Given the description of an element on the screen output the (x, y) to click on. 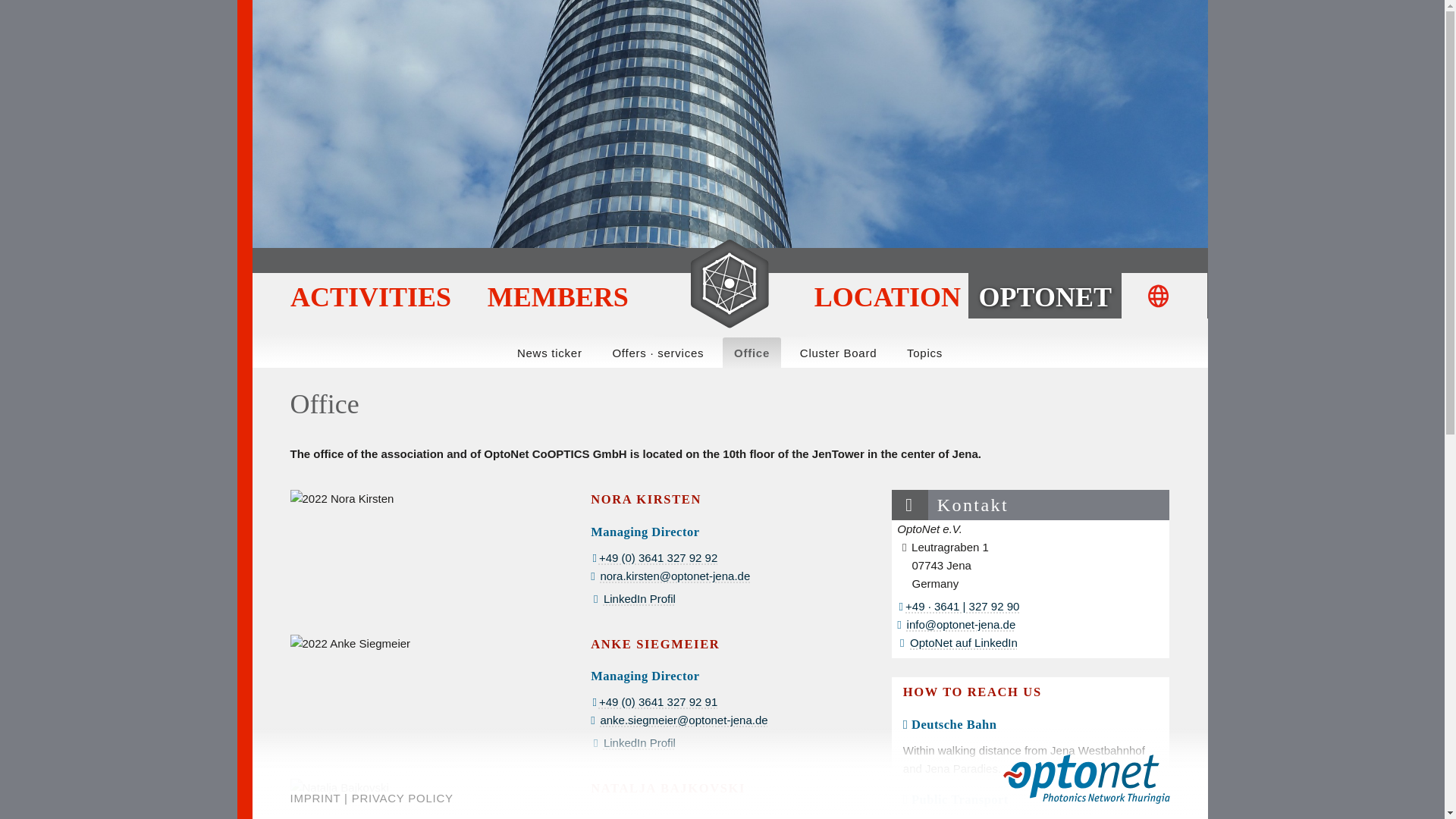
Office (751, 352)
OPTONET (1044, 295)
link to homepage (1086, 778)
LINK TO HOMEPAGE (729, 281)
LINK TO HOMEPAGE (729, 283)
2022 Anke Siegmeier (349, 643)
ACTIVITIES (376, 295)
MEMBERS (558, 295)
link to homepage (729, 281)
Topics (924, 352)
